Given the description of an element on the screen output the (x, y) to click on. 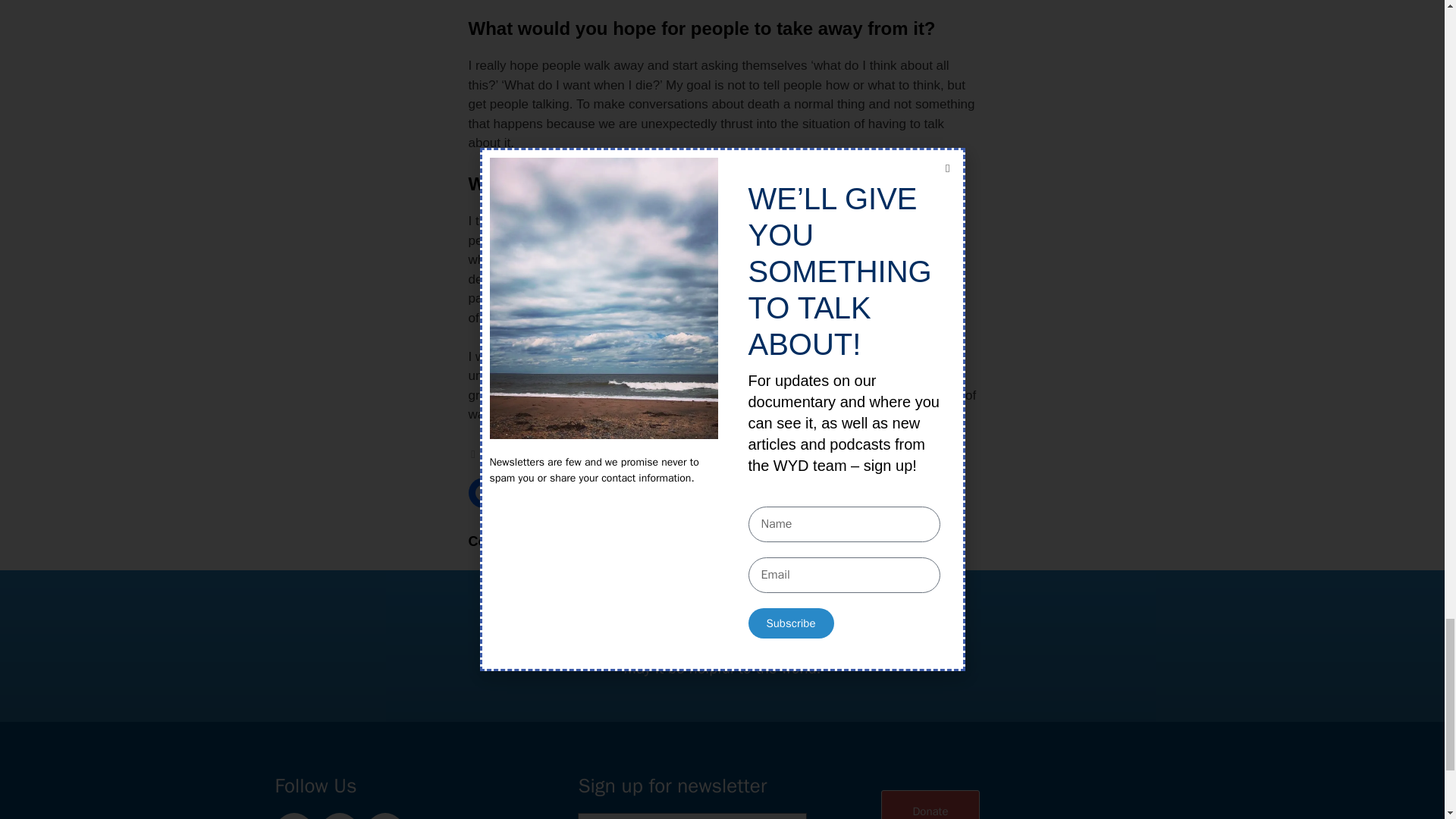
Click to share on Pinterest (563, 492)
Click to share on Twitter (523, 492)
death and dying (523, 453)
Death Documentary (617, 453)
what happens when you die (738, 453)
Click to share on Facebook (483, 492)
When You Die Project (865, 453)
